Given the description of an element on the screen output the (x, y) to click on. 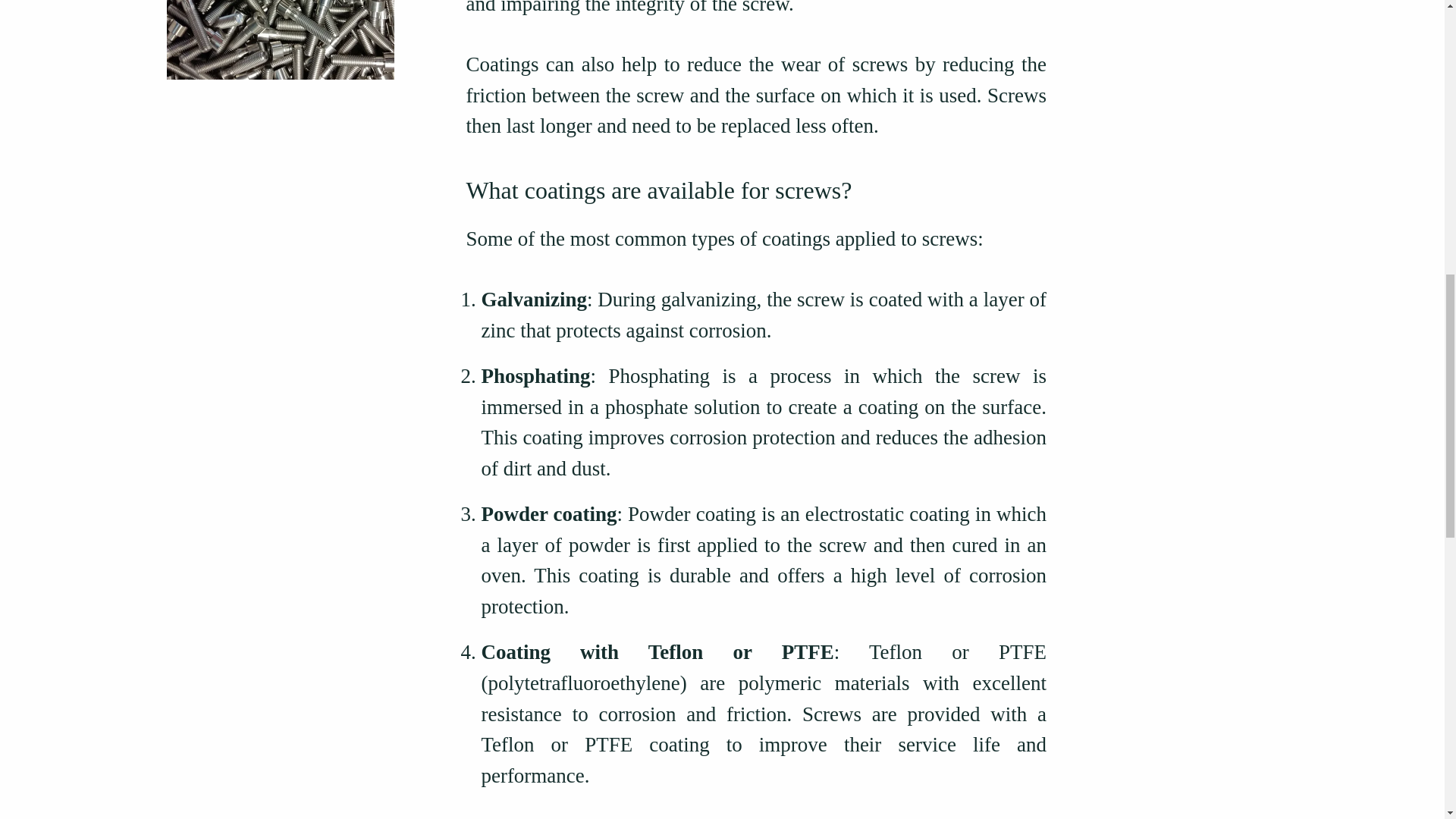
Scroll back to top (1406, 719)
titanium-screws-material-ti-gr2 (280, 39)
